Given the description of an element on the screen output the (x, y) to click on. 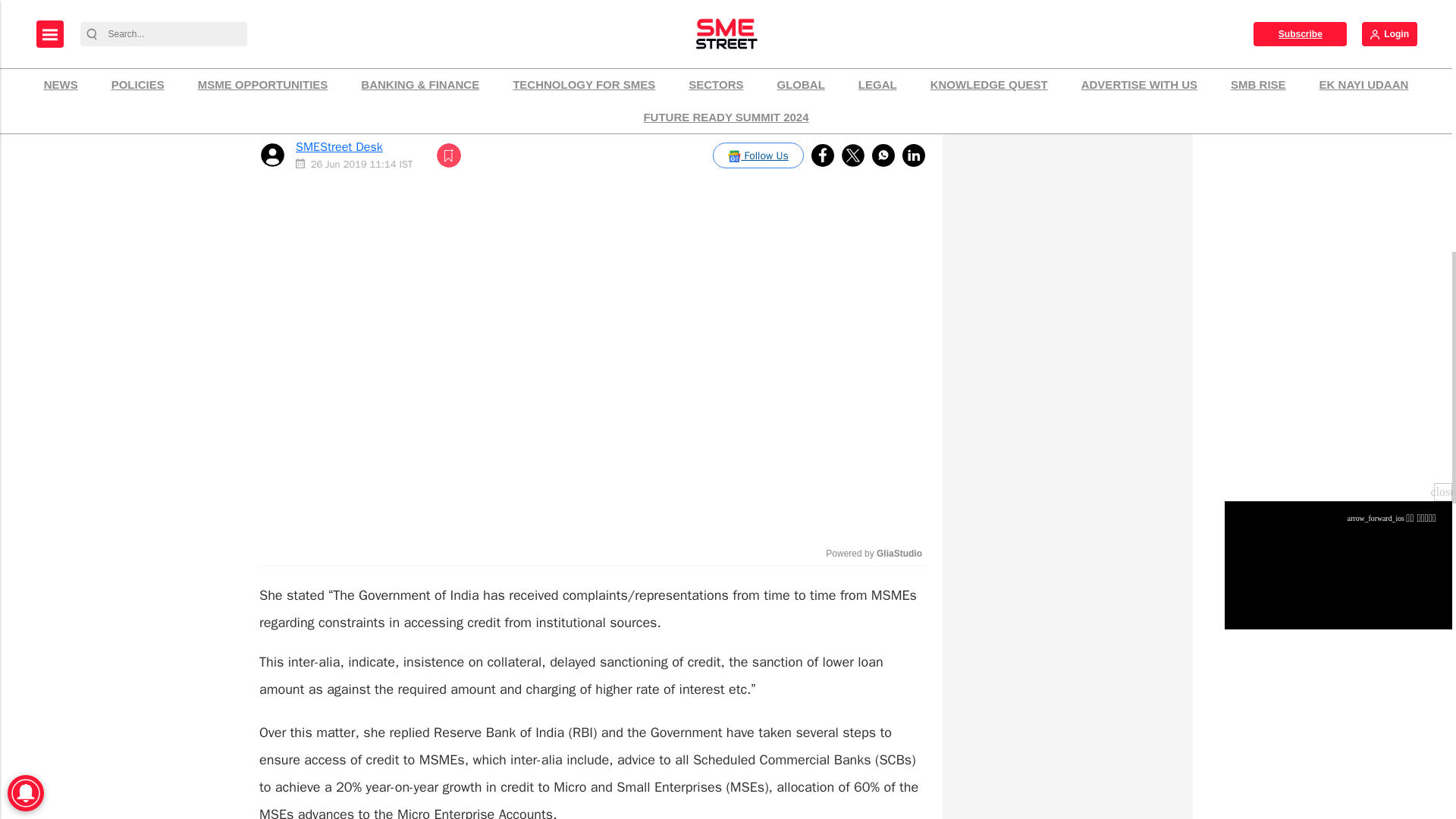
3rd party ad content (1066, 492)
3rd party ad content (1066, 773)
3rd party ad content (1066, 667)
3rd party ad content (1066, 113)
3rd party ad content (1066, 301)
